Given the description of an element on the screen output the (x, y) to click on. 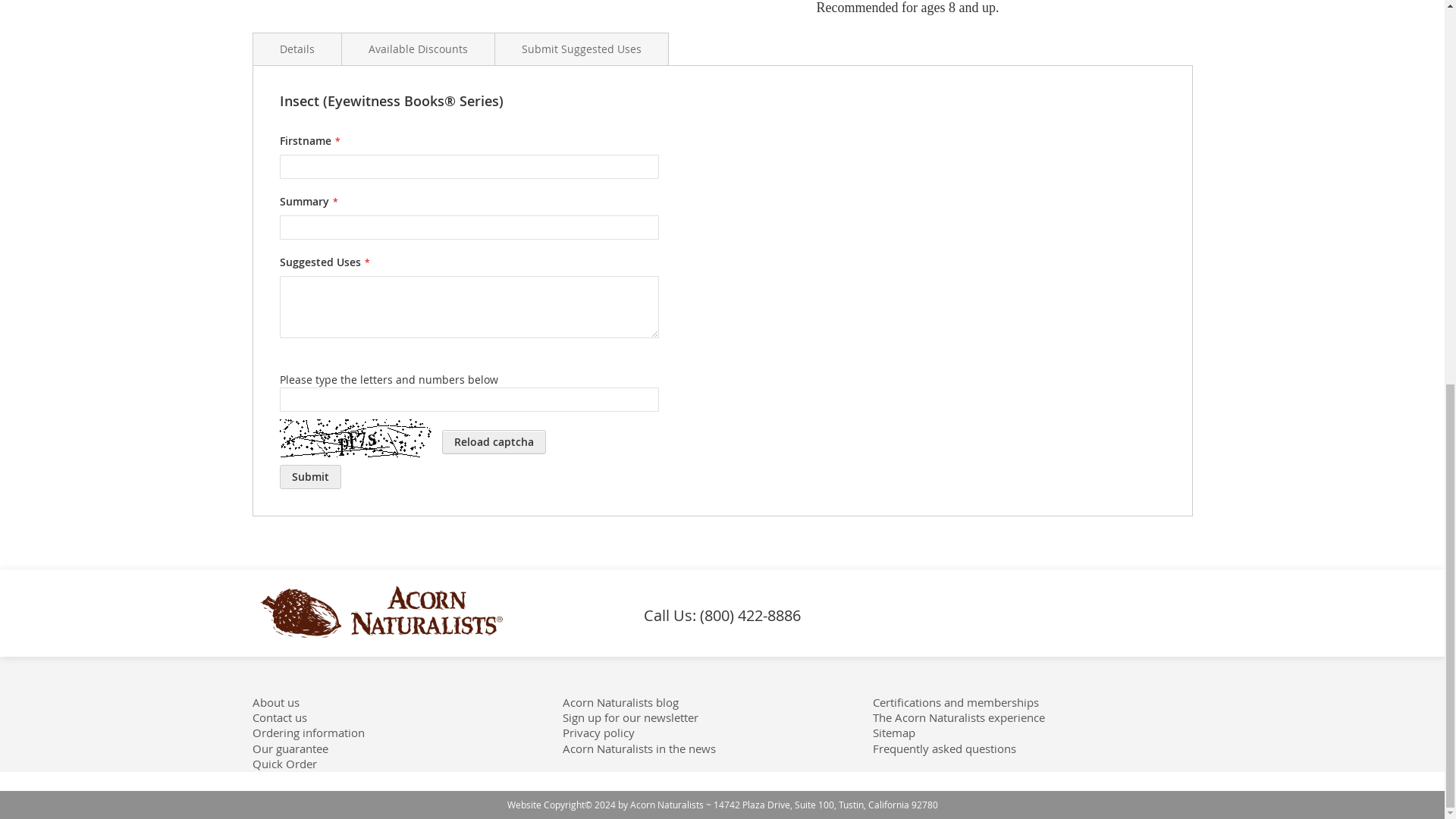
About us (274, 702)
Reload captcha (492, 441)
Available Discounts (417, 48)
Reload captcha (492, 441)
Submit (309, 476)
Submit Suggested Uses (581, 48)
Details (295, 48)
